Given the description of an element on the screen output the (x, y) to click on. 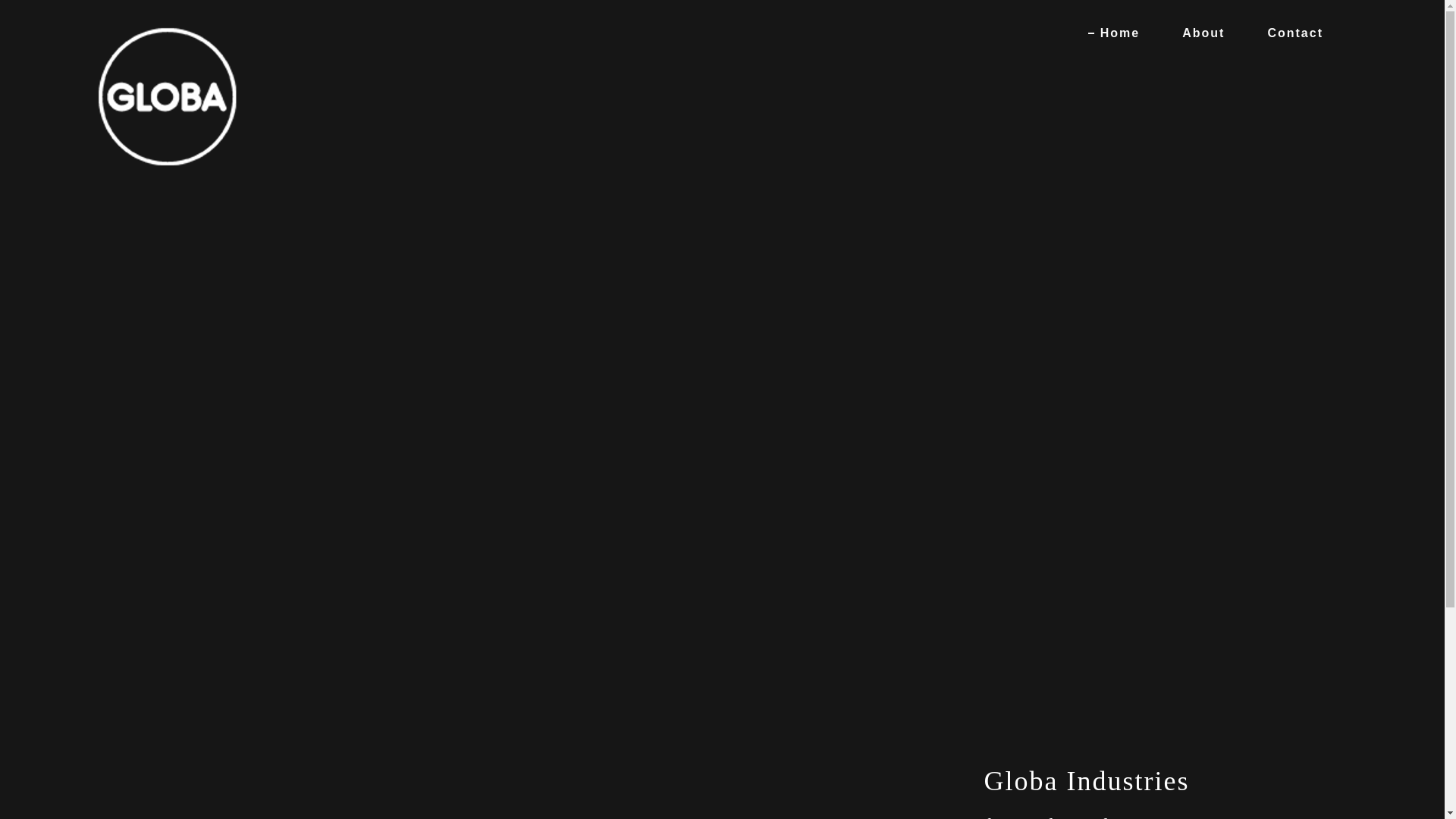
Home Element type: text (1113, 33)
About Element type: text (1197, 33)
Globa Industries  Element type: hover (166, 33)
Contact Element type: text (1288, 33)
